Given the description of an element on the screen output the (x, y) to click on. 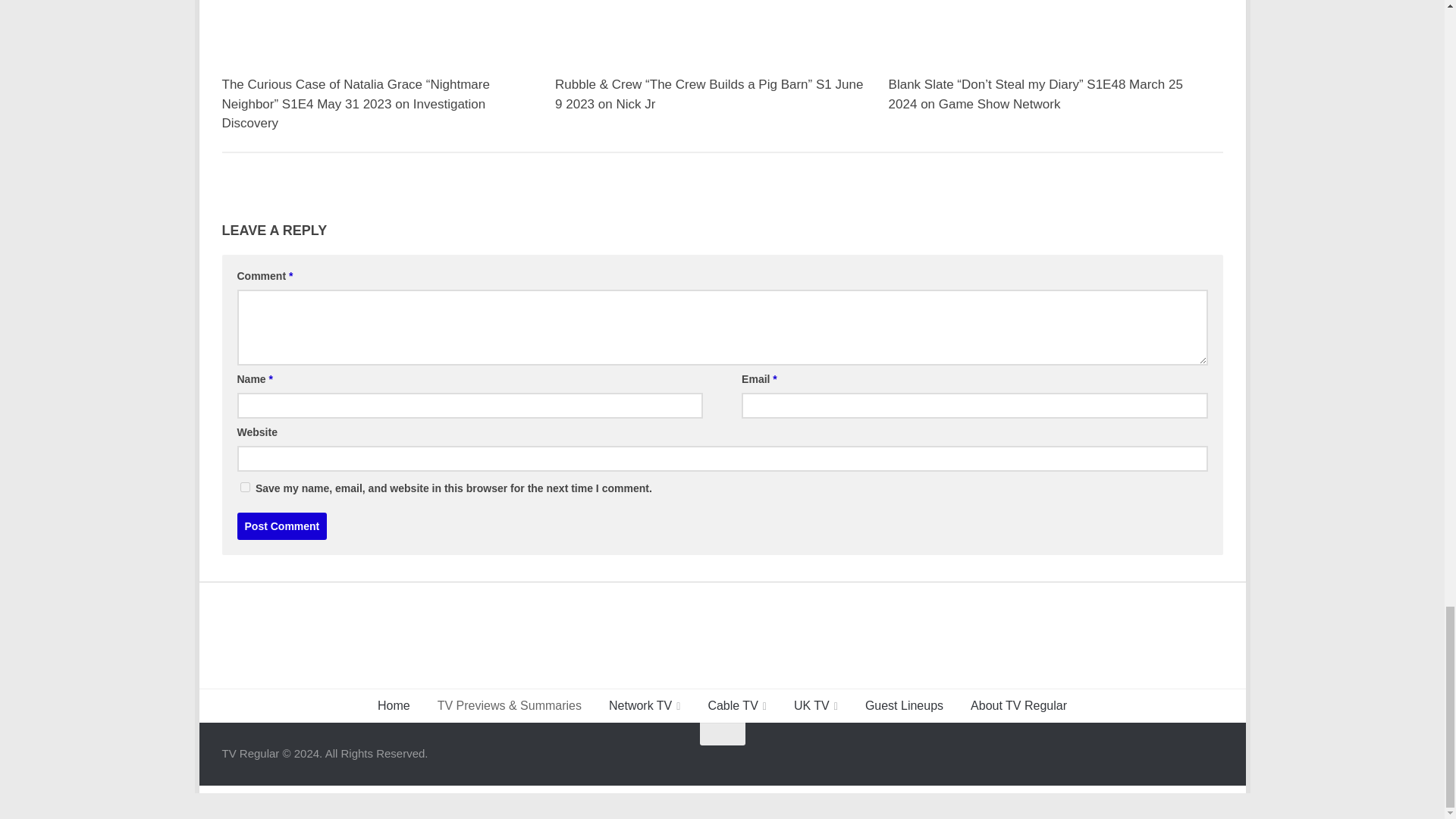
Post Comment (280, 525)
yes (244, 487)
